Given the description of an element on the screen output the (x, y) to click on. 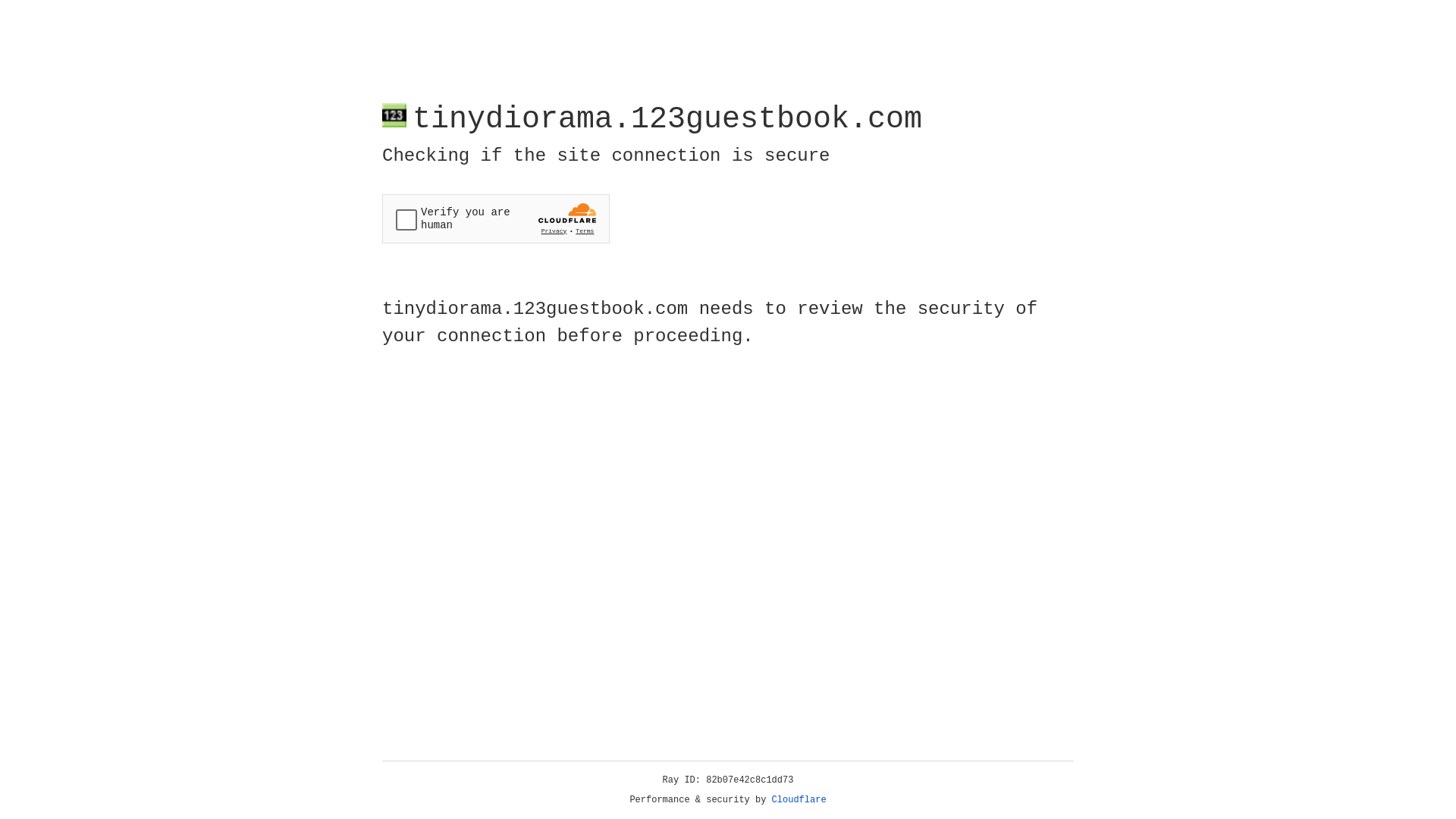
Widget containing a Cloudflare security challenge Element type: hover (495, 218)
Cloudflare Element type: text (798, 799)
